Given the description of an element on the screen output the (x, y) to click on. 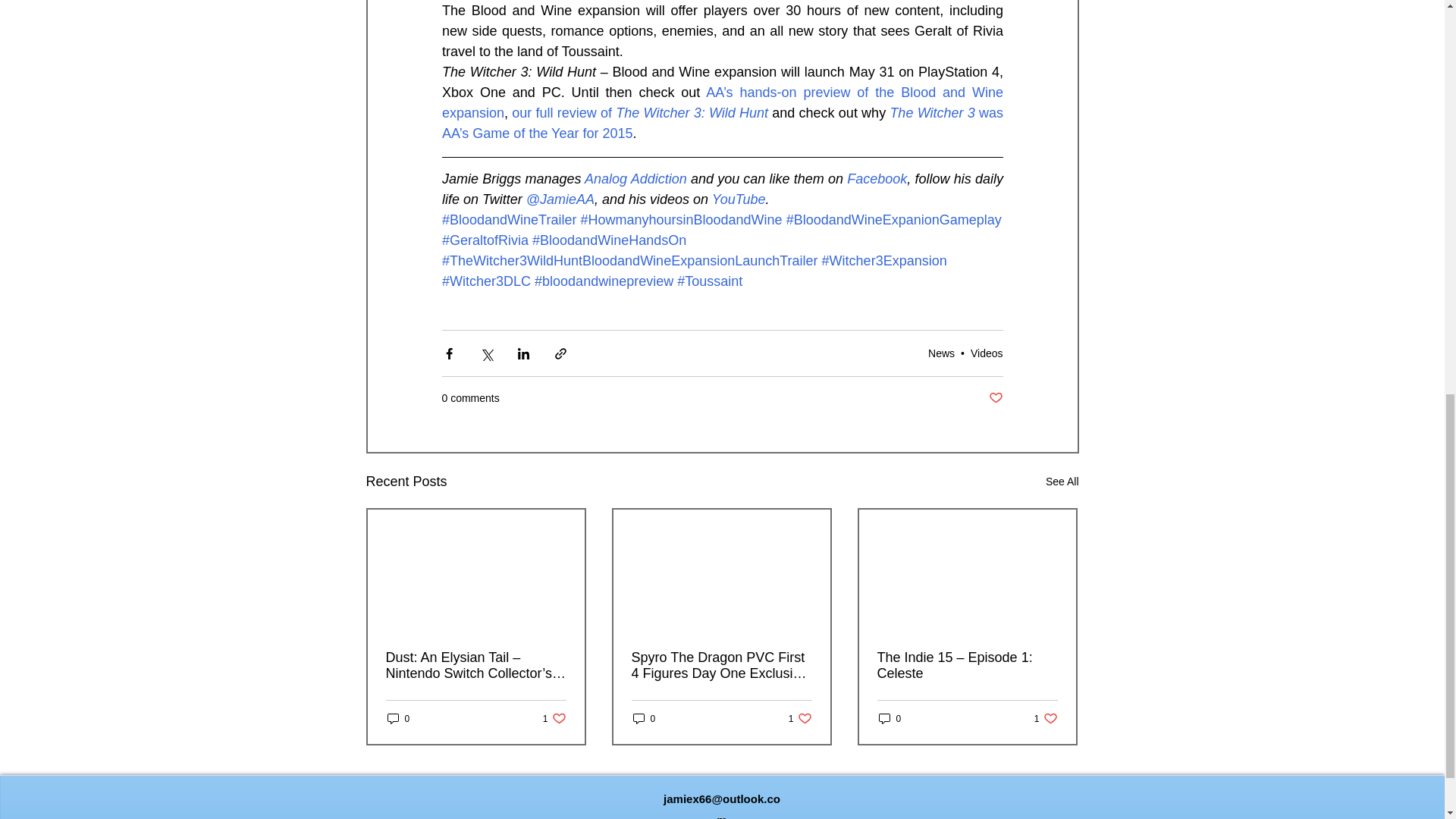
The Witcher 3: Wild Hunt (691, 112)
Analog Addiction (636, 178)
Facebook (877, 178)
The Witcher 3 (931, 112)
News (941, 353)
YouTube (738, 199)
our full review of  (563, 112)
Videos (987, 353)
